Given the description of an element on the screen output the (x, y) to click on. 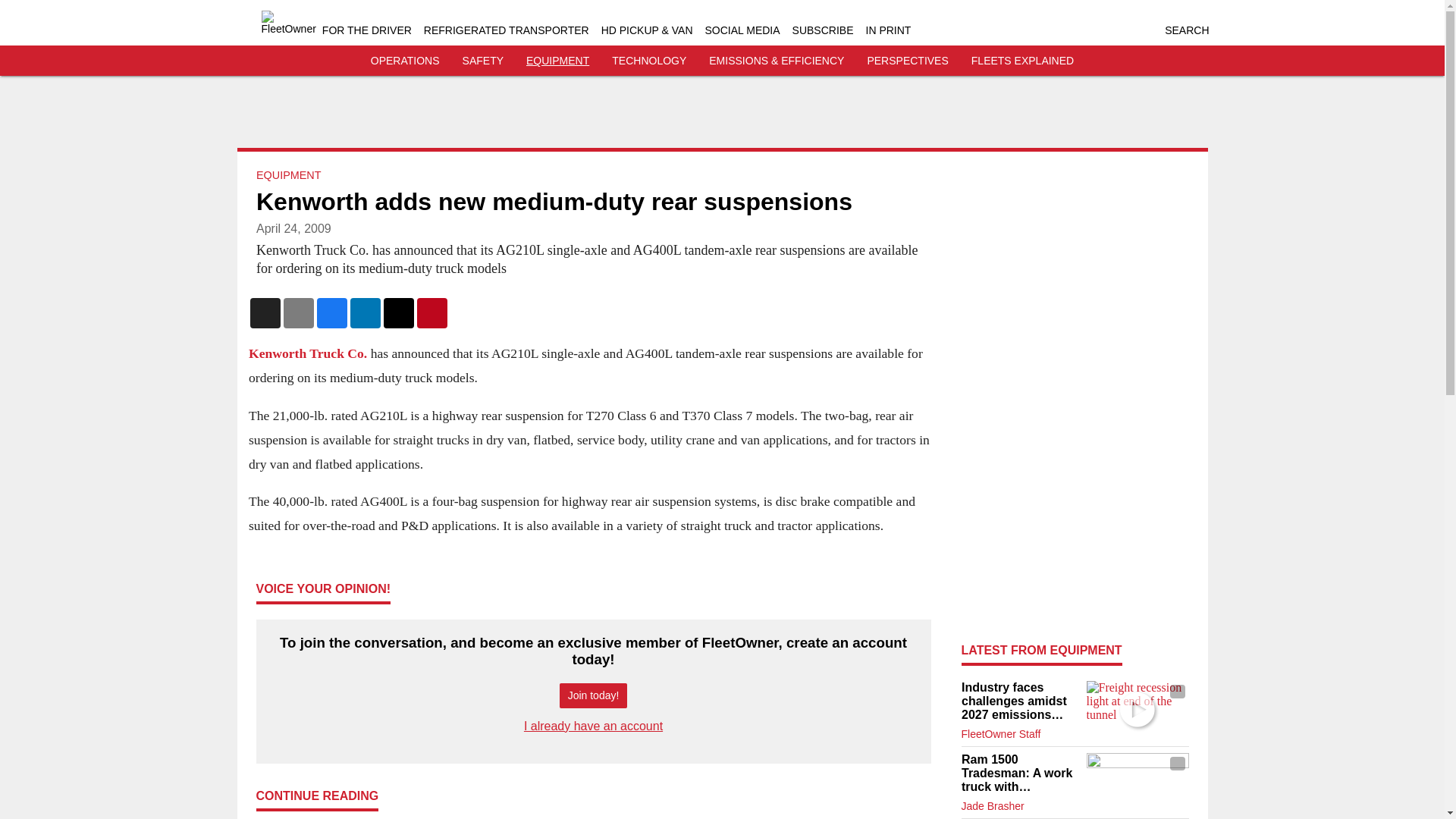
SUBSCRIBE (822, 30)
SAFETY (483, 60)
FLEETS EXPLAINED (1022, 60)
TECHNOLOGY (648, 60)
Freight recession light at end of the tunnel (1137, 708)
Join today! (593, 695)
OPERATIONS (405, 60)
SEARCH (1186, 30)
FleetOwner Staff (1000, 734)
REFRIGERATED TRANSPORTER (506, 30)
SOCIAL MEDIA (742, 30)
I already have an account (593, 725)
PERSPECTIVES (906, 60)
IN PRINT (888, 30)
